Given the description of an element on the screen output the (x, y) to click on. 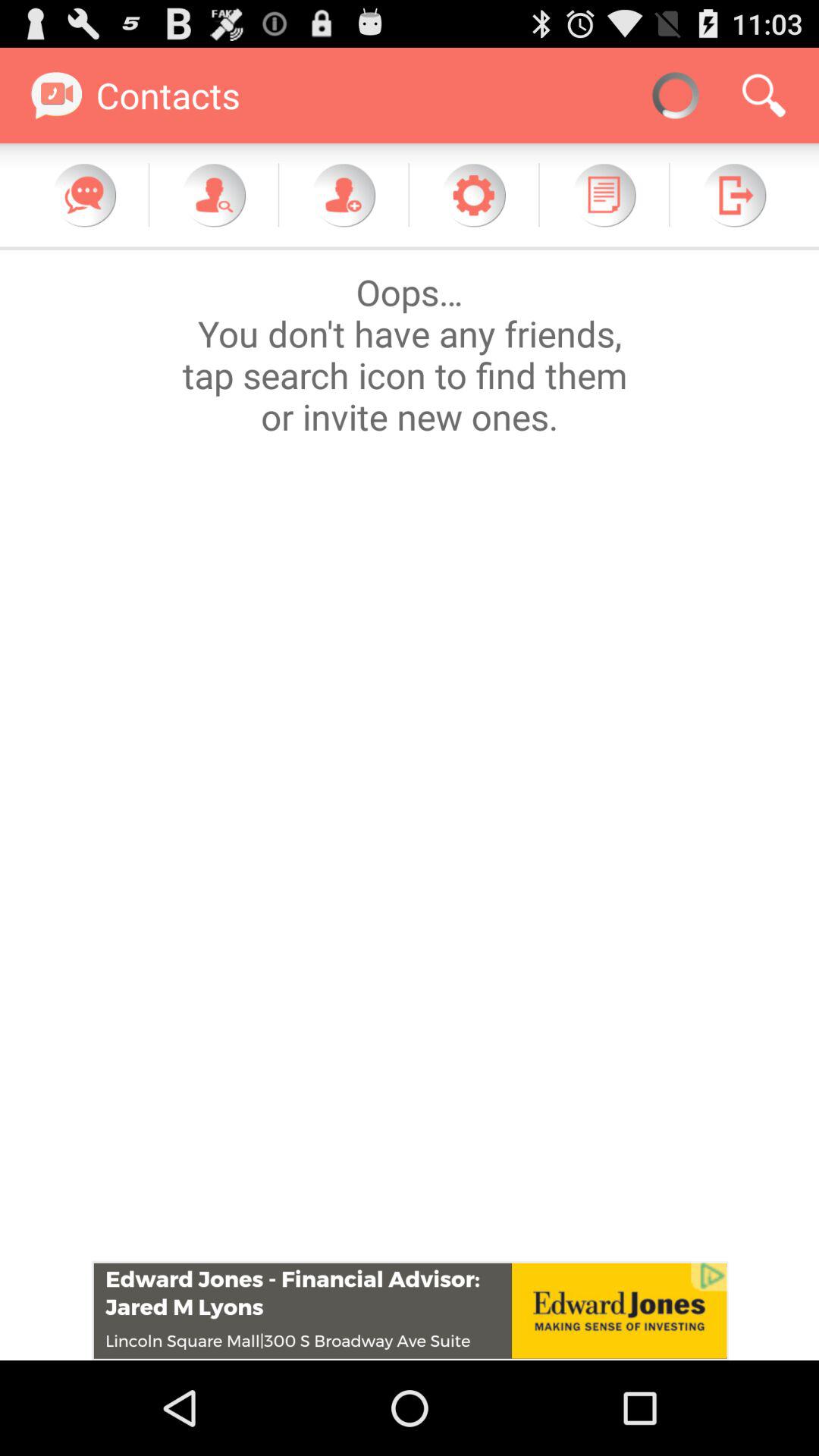
add friends (343, 194)
